Given the description of an element on the screen output the (x, y) to click on. 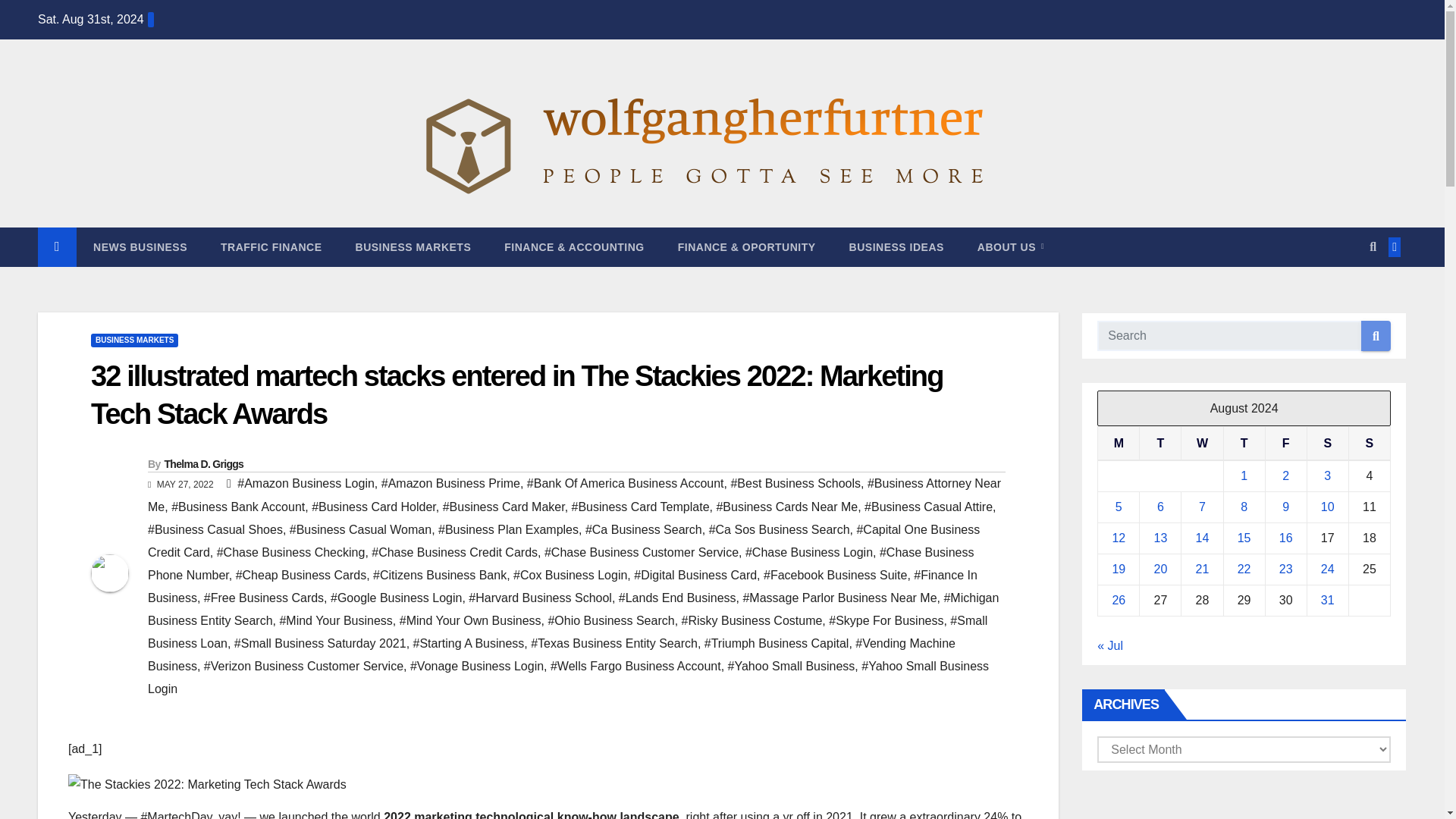
About Us (1010, 246)
business ideas (896, 246)
ABOUT US (1010, 246)
BUSINESS MARKETS (133, 340)
News Business (140, 246)
NEWS BUSINESS (140, 246)
TRAFFIC FINANCE (271, 246)
BUSINESS IDEAS (896, 246)
